Given the description of an element on the screen output the (x, y) to click on. 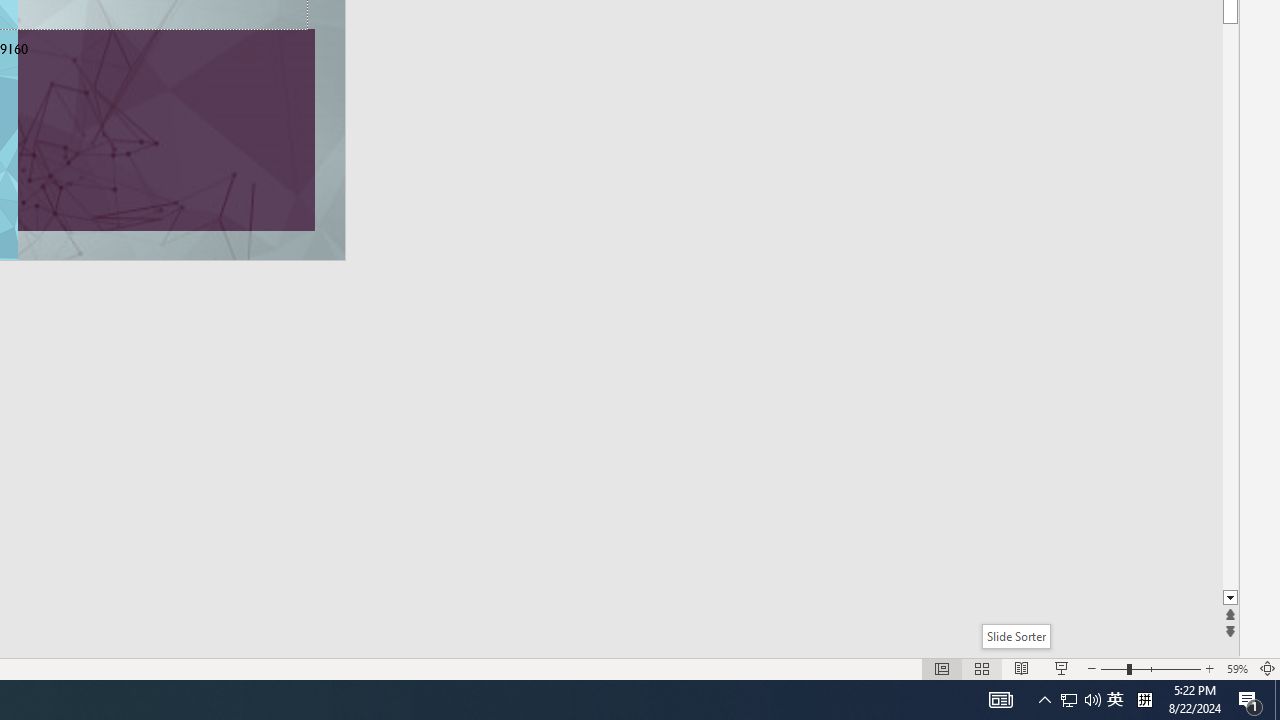
Zoom 59% (1236, 668)
